Given the description of an element on the screen output the (x, y) to click on. 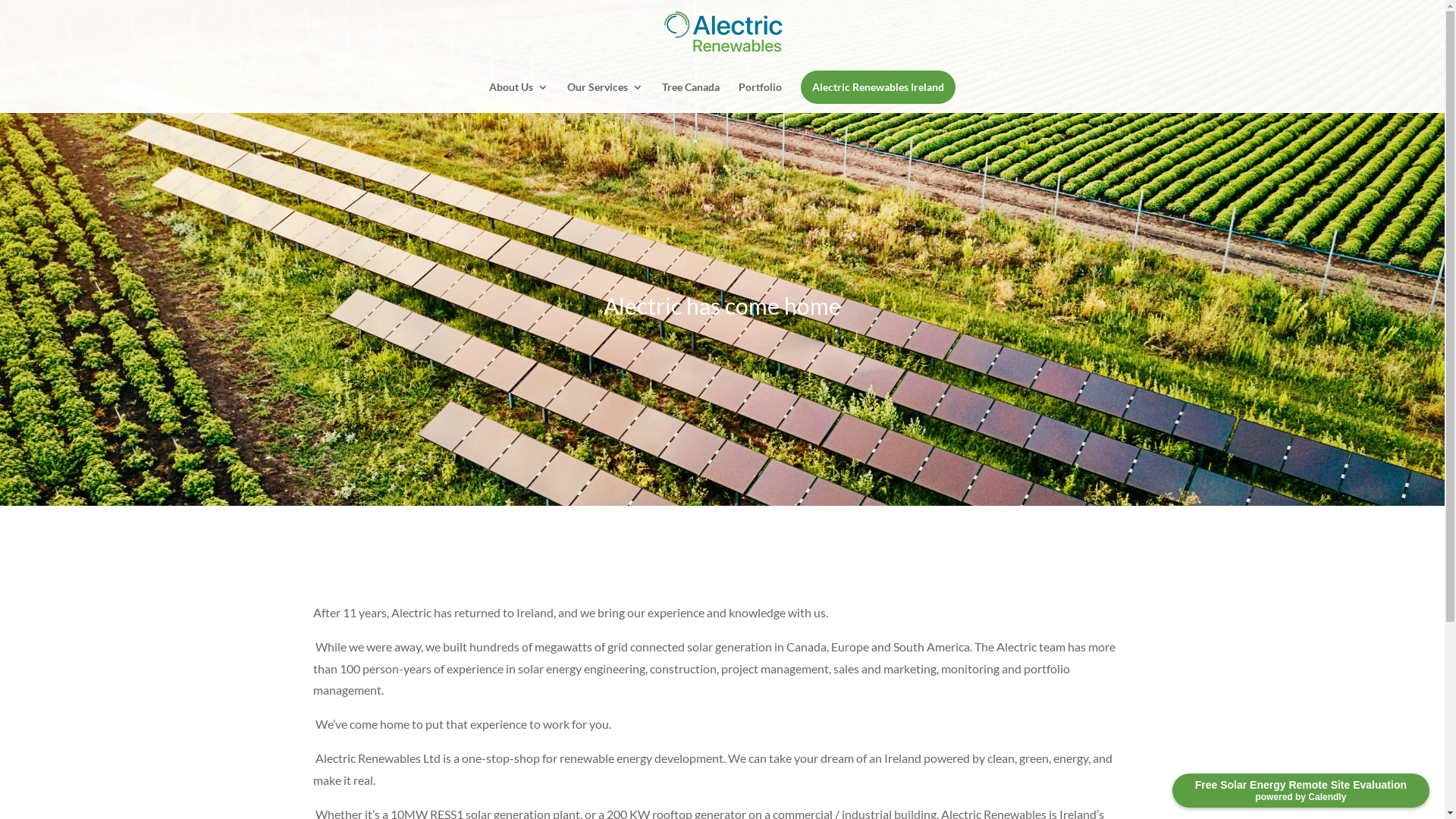
Portfolio Element type: text (759, 93)
Tree Canada Element type: text (690, 93)
About Us Element type: text (518, 93)
Alectric Renewables Ireland Element type: text (877, 86)
Our Services Element type: text (605, 93)
